Given the description of an element on the screen output the (x, y) to click on. 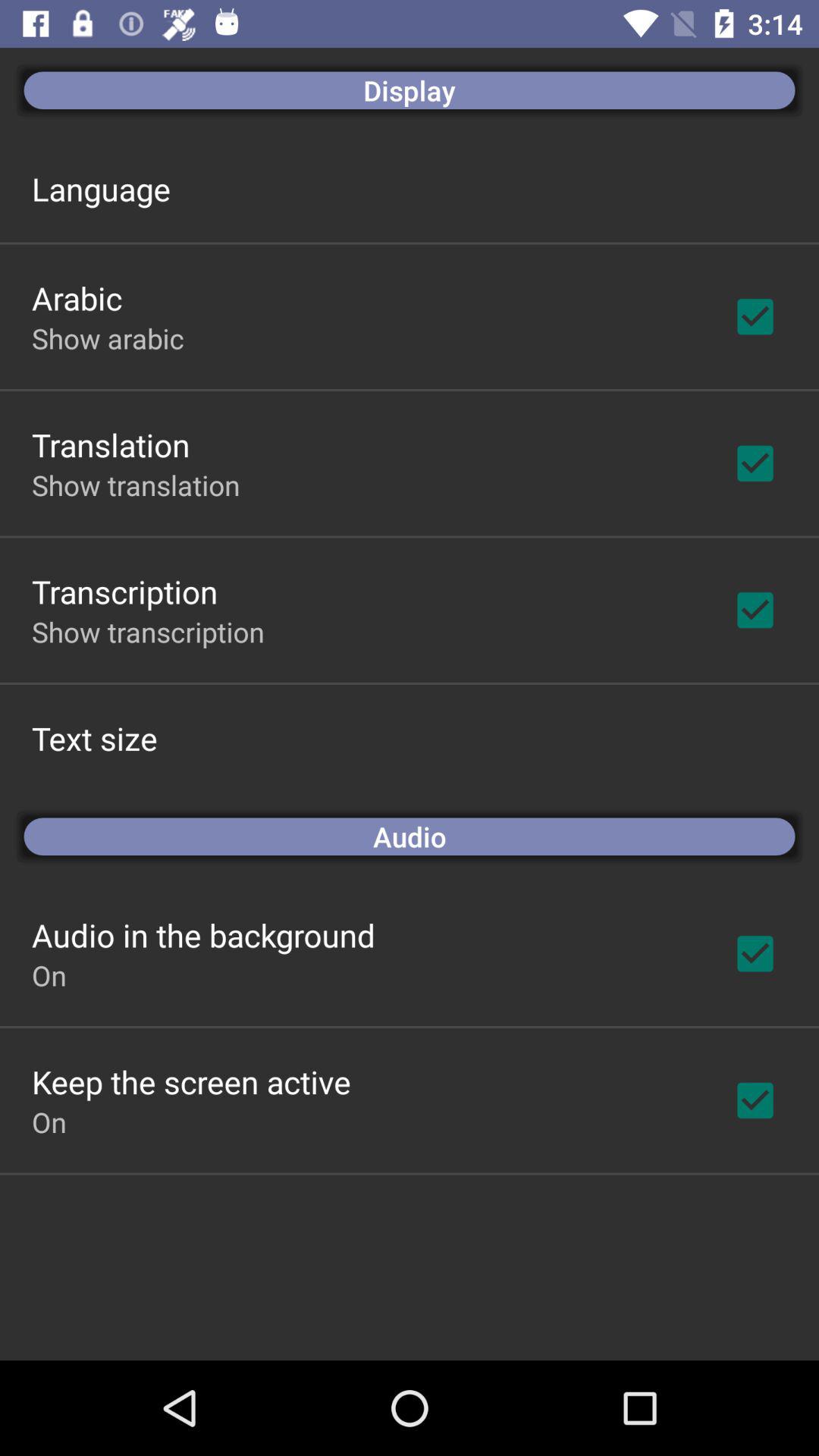
jump to show translation app (135, 484)
